Given the description of an element on the screen output the (x, y) to click on. 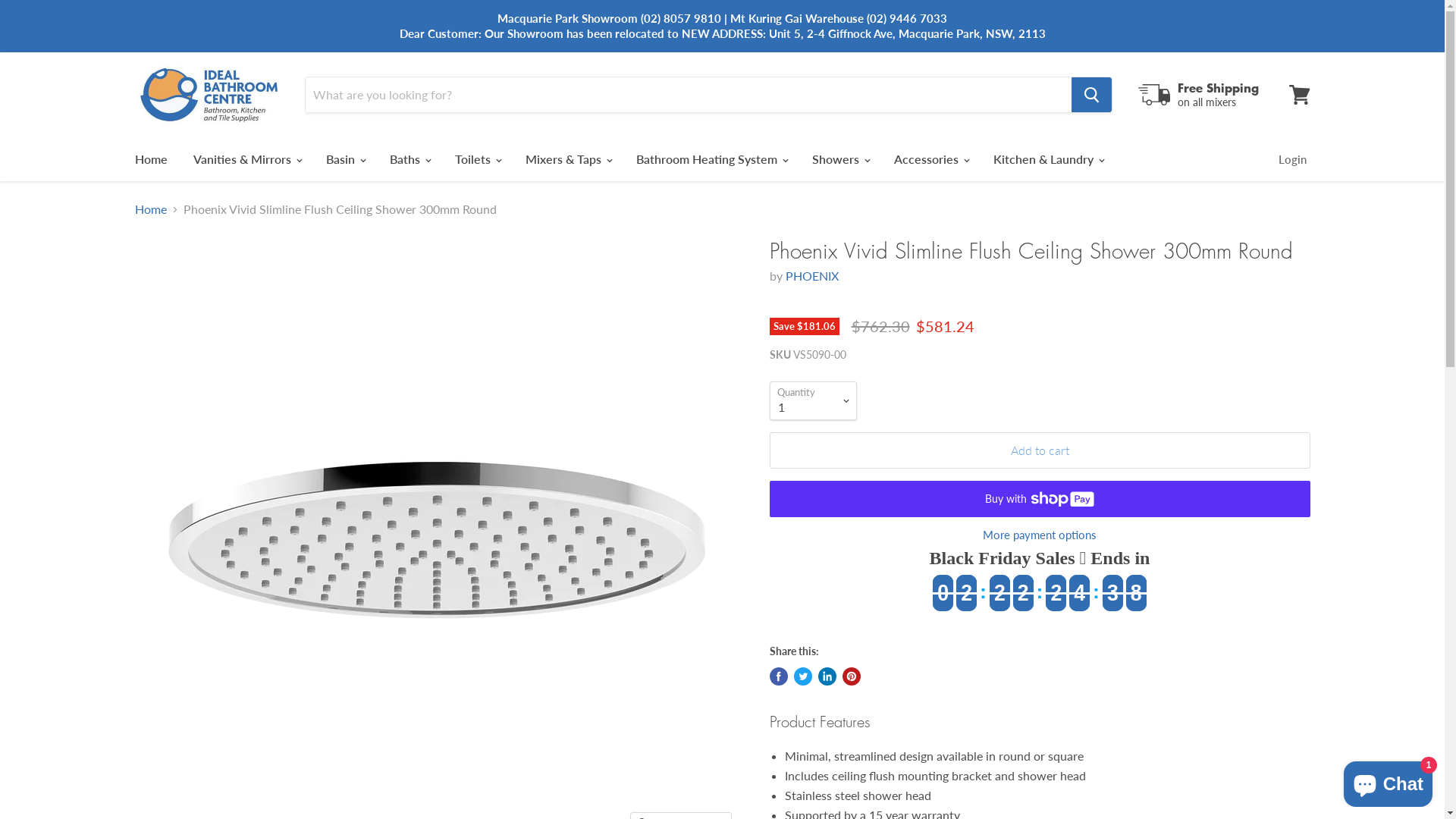
View cart Element type: text (1299, 94)
Home Element type: text (150, 209)
Kitchen & Laundry Element type: text (1047, 159)
Mixers & Taps Element type: text (567, 159)
Basin Element type: text (343, 159)
Share on LinkedIn Element type: text (826, 676)
PHOENIX Element type: text (811, 275)
Baths Element type: text (408, 159)
Tweet on Twitter Element type: text (802, 676)
Vanities & Mirrors Element type: text (246, 159)
Accessories Element type: text (930, 159)
Toilets Element type: text (476, 159)
Shopify online store chat Element type: hover (1388, 780)
Bathroom Heating System Element type: text (710, 159)
Home Element type: text (150, 159)
Share on Facebook Element type: text (777, 676)
Pin on Pinterest Element type: text (850, 676)
Login Element type: text (1292, 159)
Showers Element type: text (839, 159)
More payment options Element type: text (1038, 534)
Add to cart Element type: text (1038, 450)
